Given the description of an element on the screen output the (x, y) to click on. 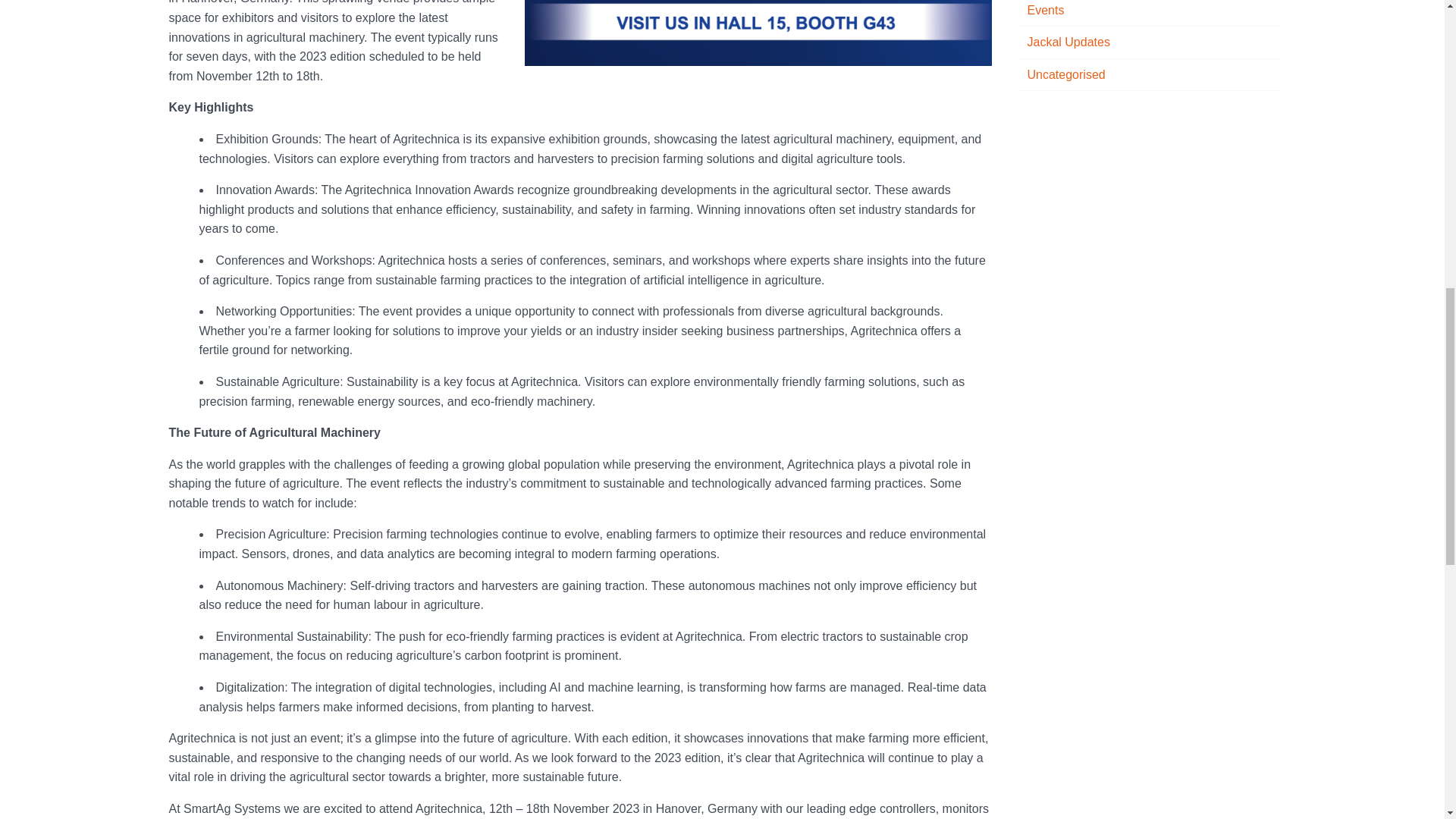
Jackal Updates (1148, 42)
Events (1148, 13)
Uncategorised (1148, 74)
